Given the description of an element on the screen output the (x, y) to click on. 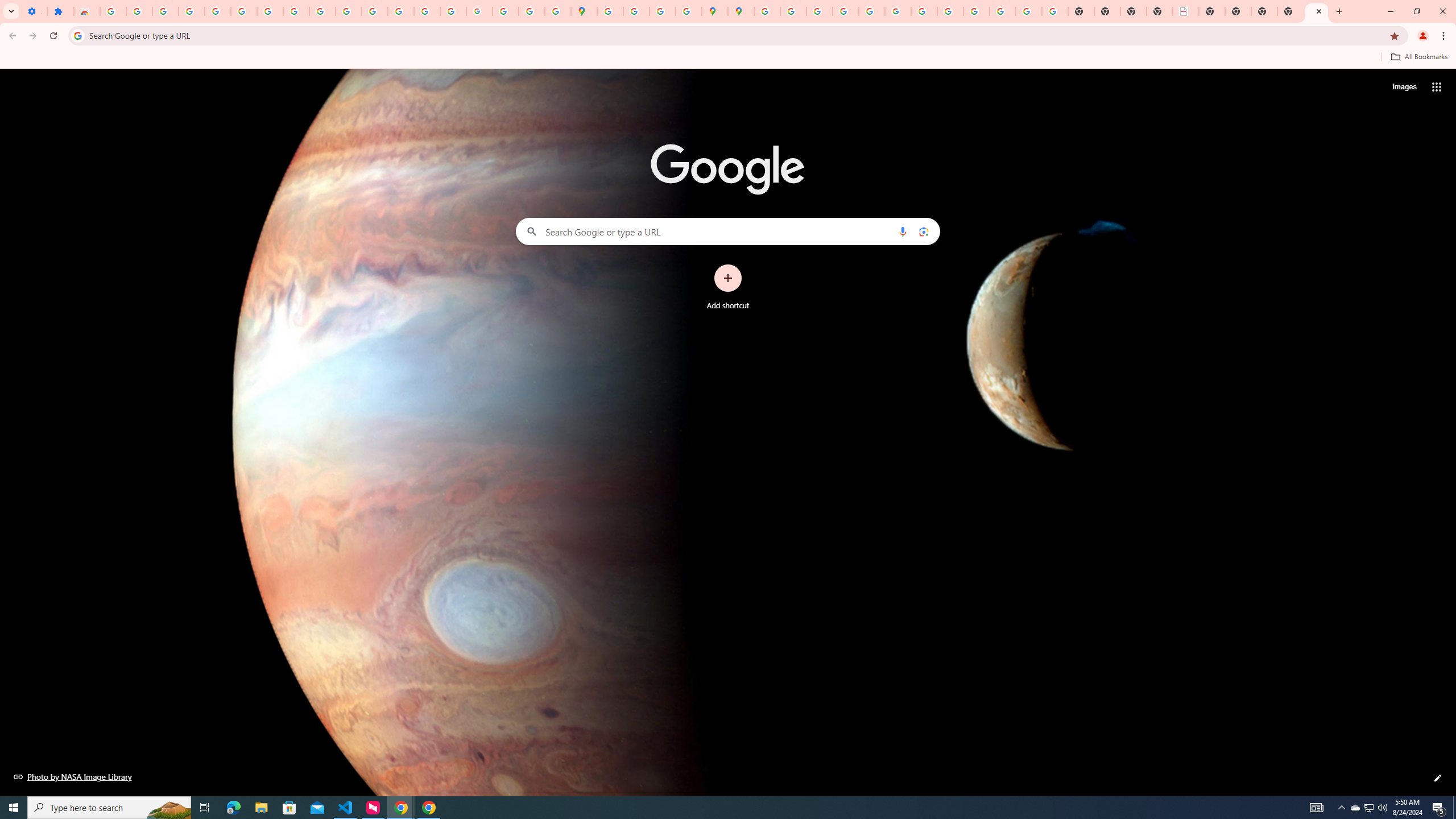
Settings - On startup (34, 11)
Safety in Our Products - Google Safety Center (689, 11)
New Tab (1290, 11)
YouTube (322, 11)
Bookmarks (728, 58)
Delete photos & videos - Computer - Google Photos Help (165, 11)
LAAD Defence & Security 2025 | BAE Systems (1185, 11)
https://scholar.google.com/ (374, 11)
